Given the description of an element on the screen output the (x, y) to click on. 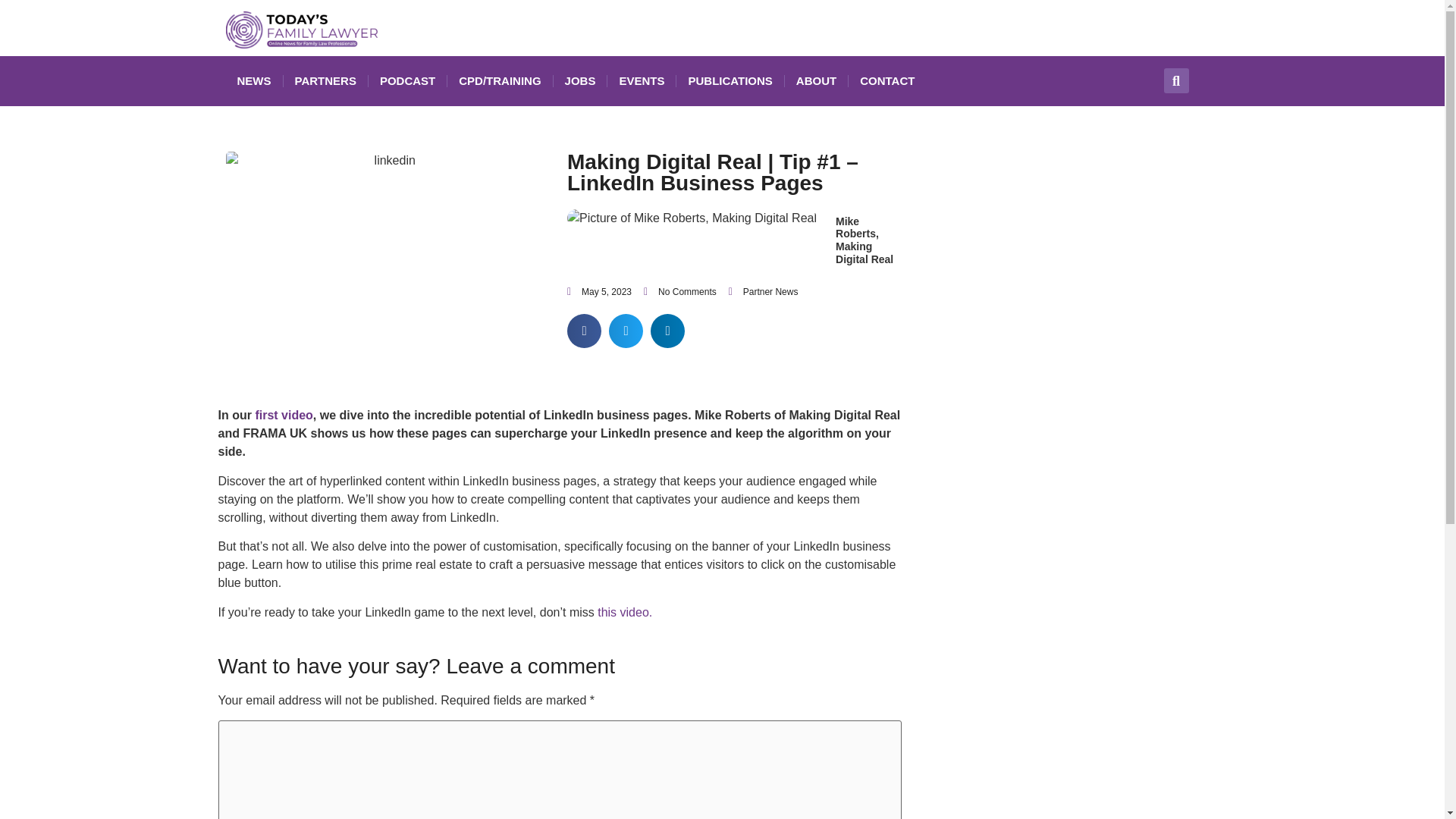
PODCAST (407, 80)
PARTNERS (325, 80)
JOBS (580, 80)
NEWS (253, 80)
PUBLICATIONS (730, 80)
CONTACT (887, 80)
EVENTS (641, 80)
ABOUT (815, 80)
